Given the description of an element on the screen output the (x, y) to click on. 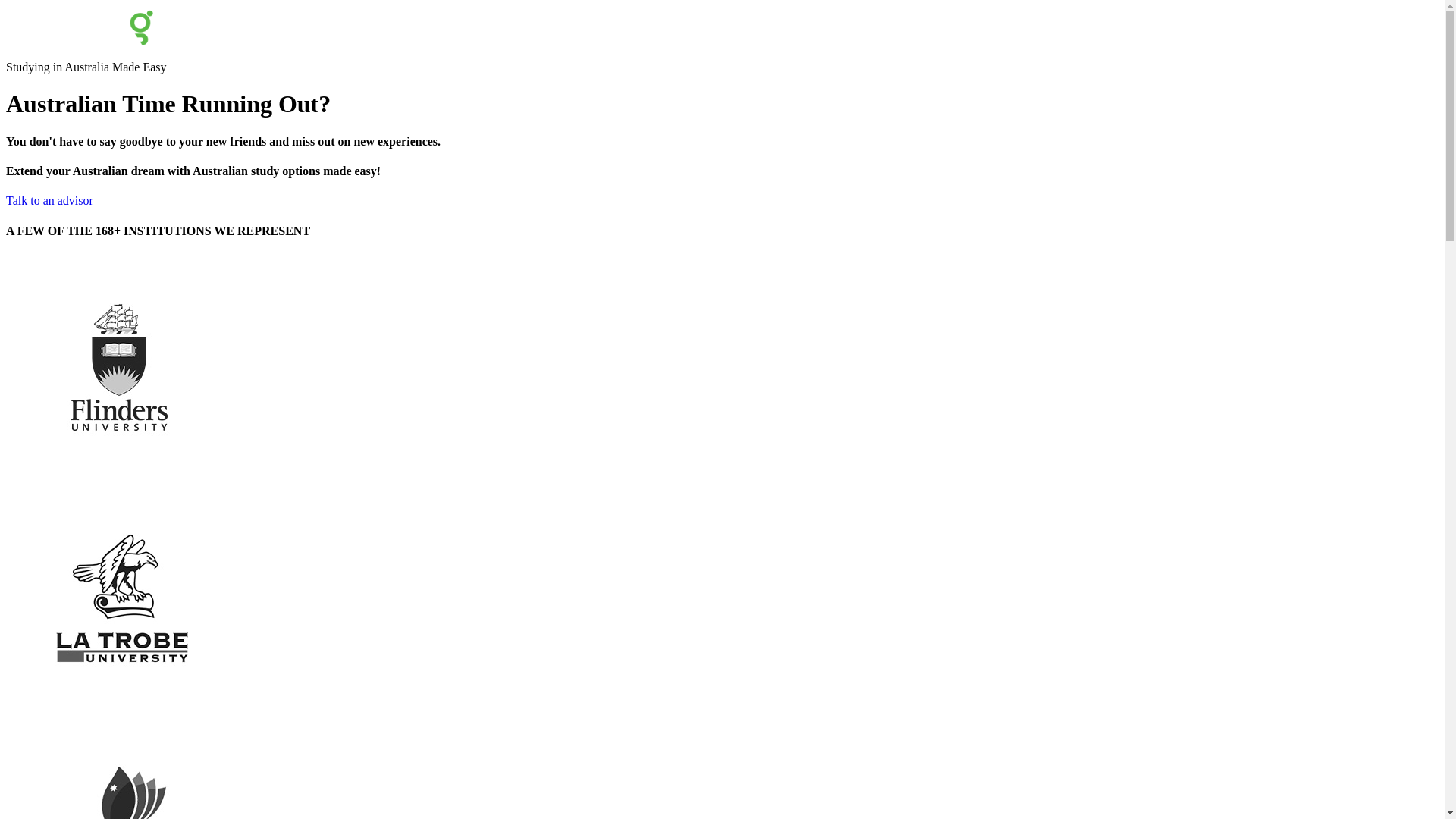
Talk to an advisor Element type: text (49, 200)
